Given the description of an element on the screen output the (x, y) to click on. 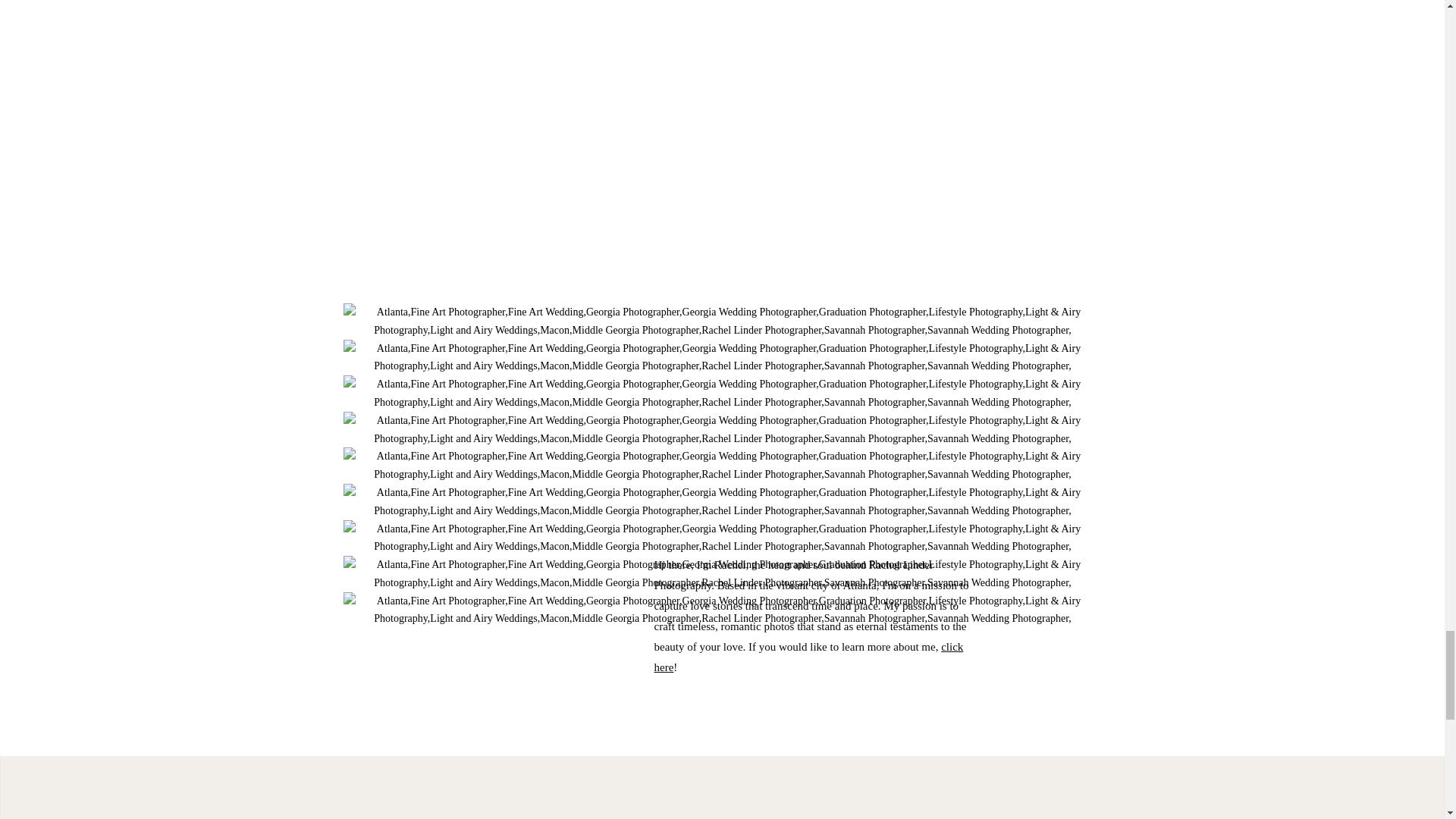
click here (807, 656)
